Given the description of an element on the screen output the (x, y) to click on. 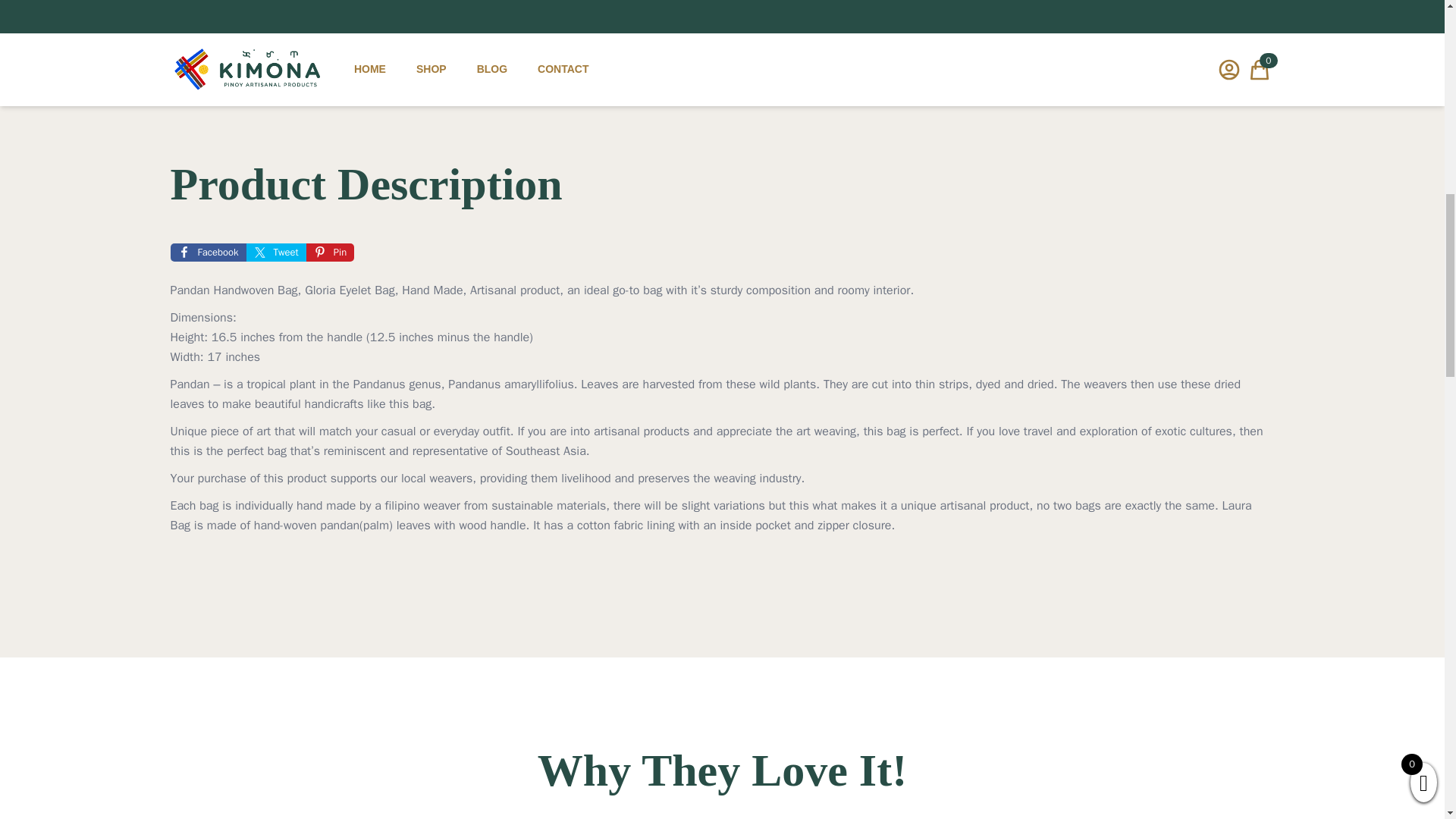
Pin (329, 252)
Share on Twitter (275, 252)
Facebook (208, 252)
Tweet (275, 252)
Share on Facebook (208, 252)
Share on Pinterest (329, 252)
